Given the description of an element on the screen output the (x, y) to click on. 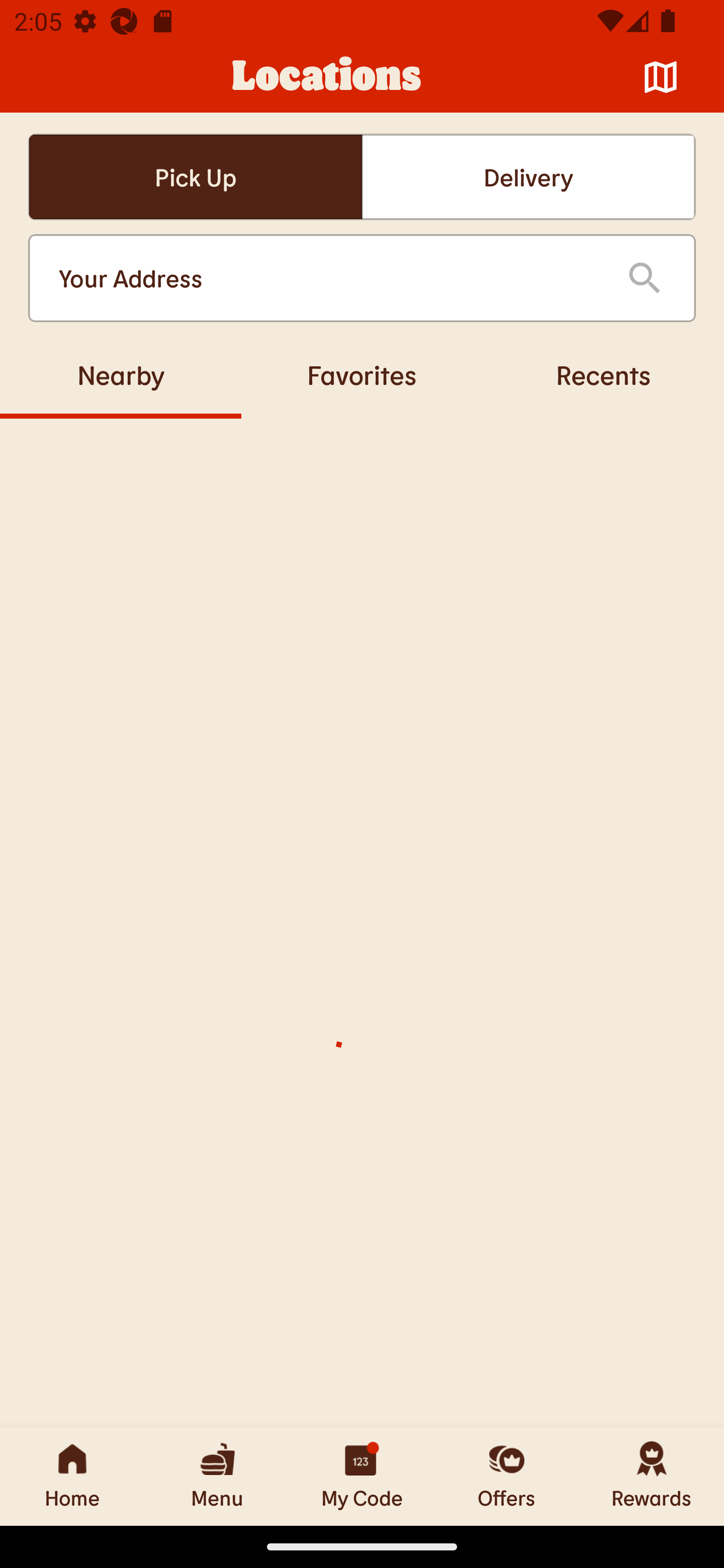
Map 󰦂 (660, 77)
Locations (326, 77)
Pick UpSelected Pick UpSelected Pick Up (195, 176)
Delivery Delivery Delivery (528, 176)
Your Address (327, 277)
Nearby (120, 374)
Favorites (361, 374)
Recents (603, 374)
Home (72, 1475)
Menu (216, 1475)
My Code (361, 1475)
Offers (506, 1475)
Rewards (651, 1475)
